Given the description of an element on the screen output the (x, y) to click on. 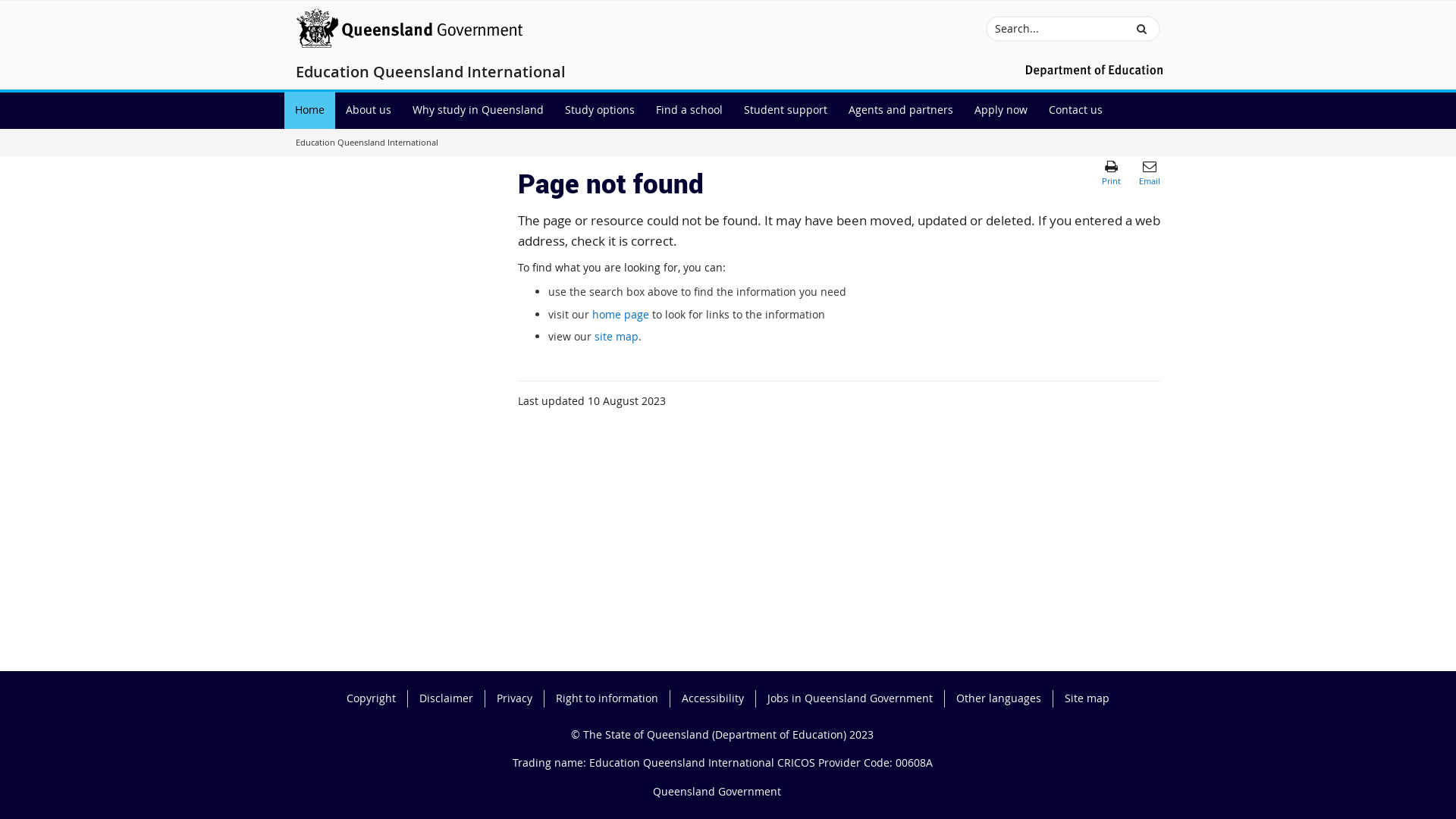
Agents and partners Element type: text (900, 109)
Why study in Queensland Element type: text (477, 109)
Privacy Element type: text (520, 698)
Search Element type: hover (1141, 28)
Search... Element type: hover (1055, 28)
Student support Element type: text (785, 109)
Right to information Element type: text (612, 698)
Search... Element type: text (1055, 28)
site map Element type: text (616, 336)
Jobs in Queensland Government Element type: text (855, 698)
home page Element type: text (619, 314)
Contact us Element type: text (1075, 109)
About us Element type: text (368, 109)
Education Queensland International Element type: text (430, 73)
Department of Education Element type: hover (1091, 69)
Queensland Government Element type: text (716, 791)
Copyright Element type: text (376, 698)
Disclaimer Element type: text (452, 698)
Study options Element type: text (599, 109)
Other languages Element type: text (1004, 698)
Find a school Element type: text (689, 109)
Email this page Element type: hover (1149, 172)
Site map Element type: text (1086, 698)
Accessibility Element type: text (718, 698)
Print this page Element type: hover (1110, 172)
Home Element type: text (309, 109)
Apply now Element type: text (1000, 109)
